Given the description of an element on the screen output the (x, y) to click on. 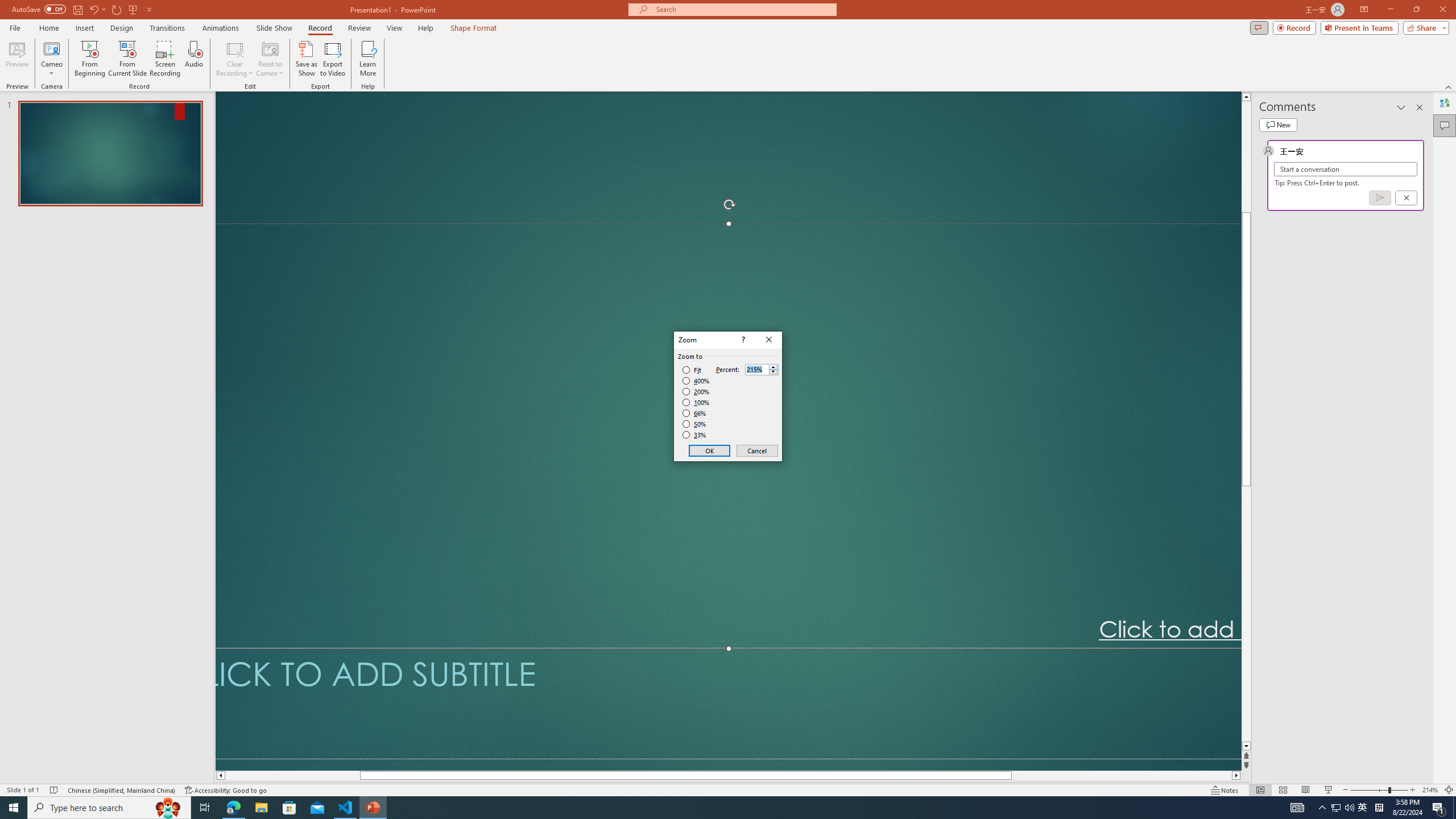
Microsoft Edge - 1 running window (233, 807)
Export to Video (332, 58)
Action Center, 1 new notification (1439, 807)
From Beginning... (89, 58)
OK (709, 450)
Post comment (Ctrl + Enter) (1379, 197)
Page down (1245, 614)
